Given the description of an element on the screen output the (x, y) to click on. 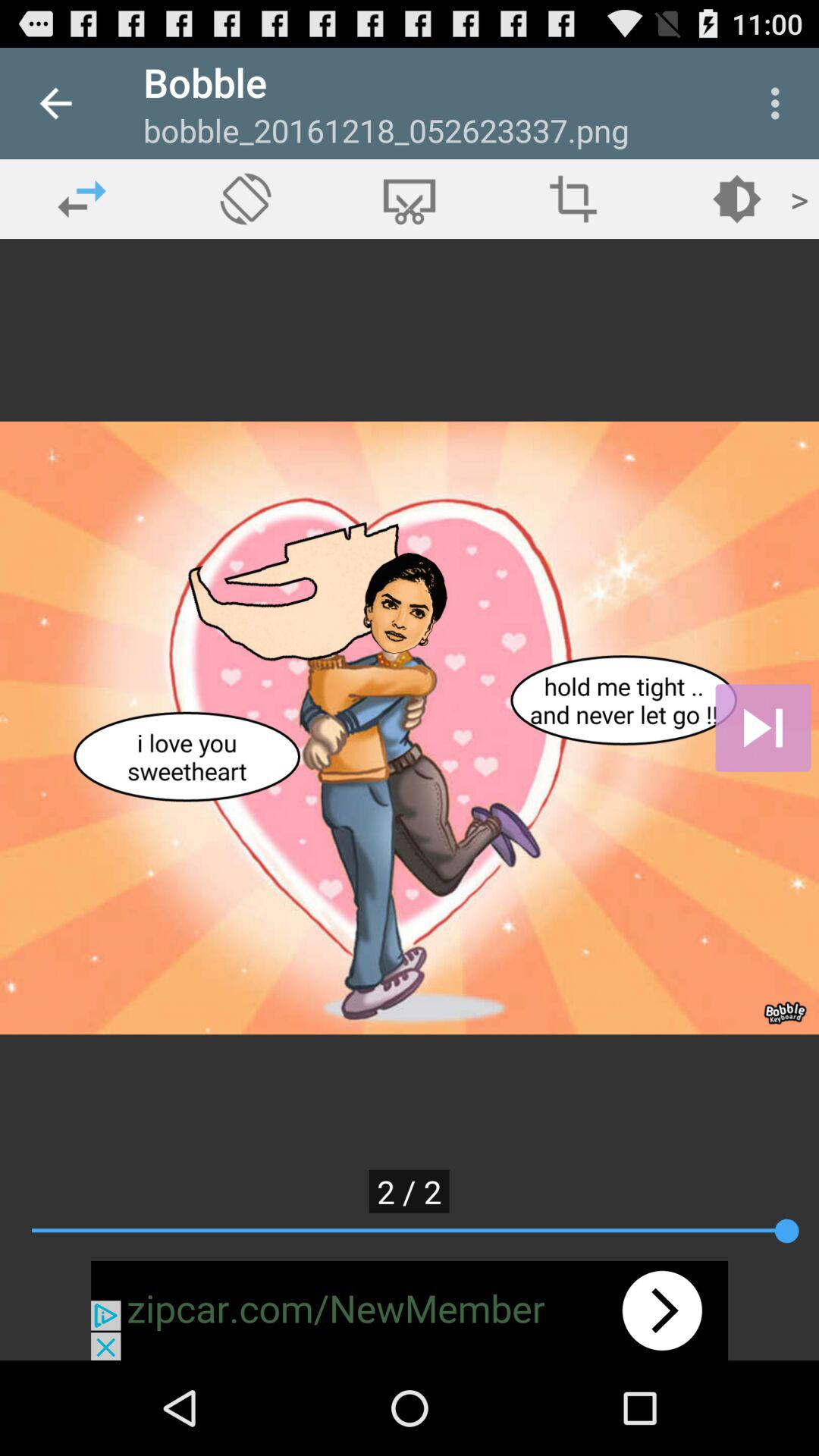
edit brightness (737, 198)
